Given the description of an element on the screen output the (x, y) to click on. 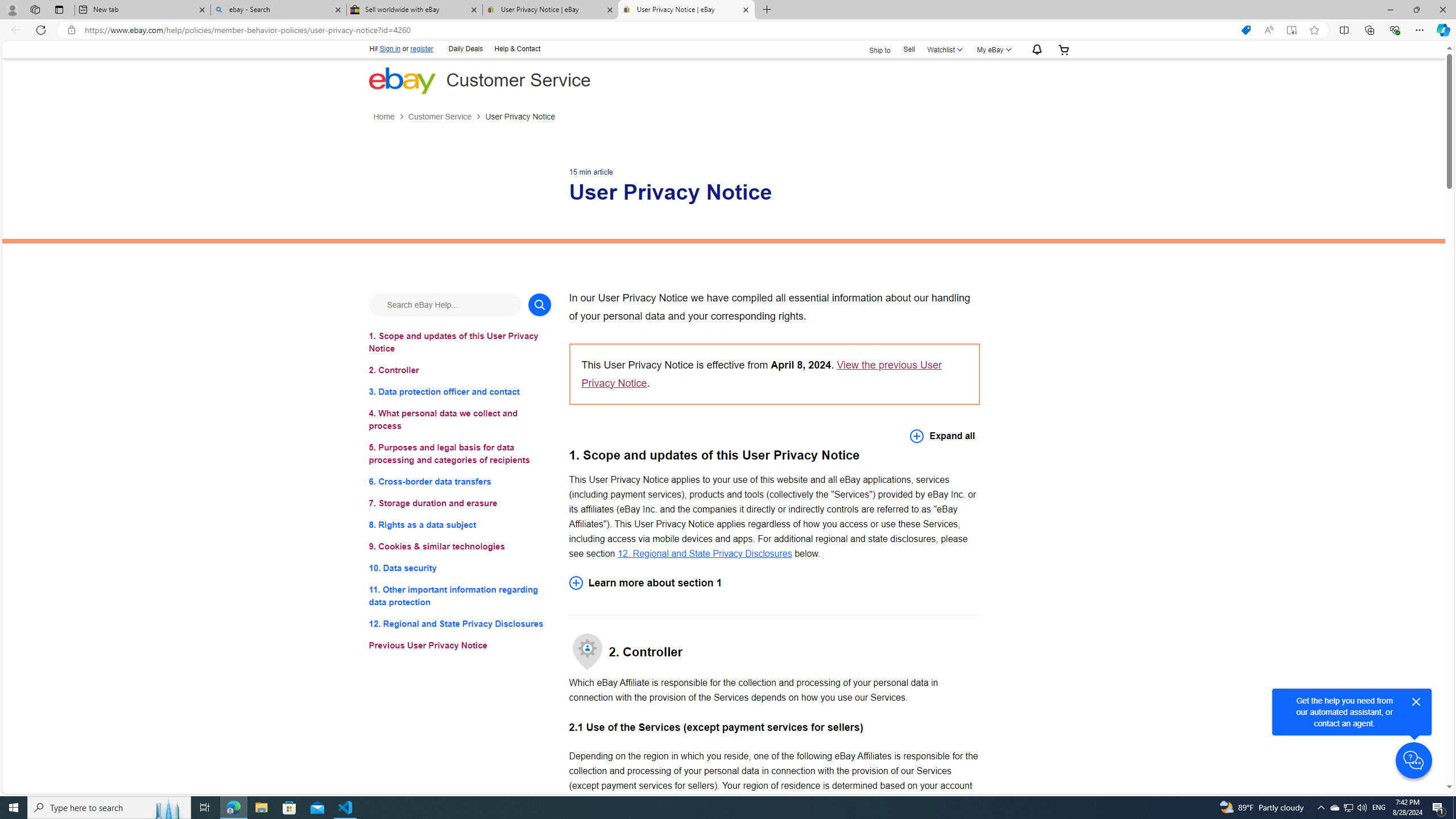
My eBayExpand My eBay (992, 49)
8. Rights as a data subject (459, 524)
11. Other important information regarding data protection (459, 596)
AutomationID: gh-eb-Alerts (1035, 49)
9. Cookies & similar technologies (459, 546)
